Given the description of an element on the screen output the (x, y) to click on. 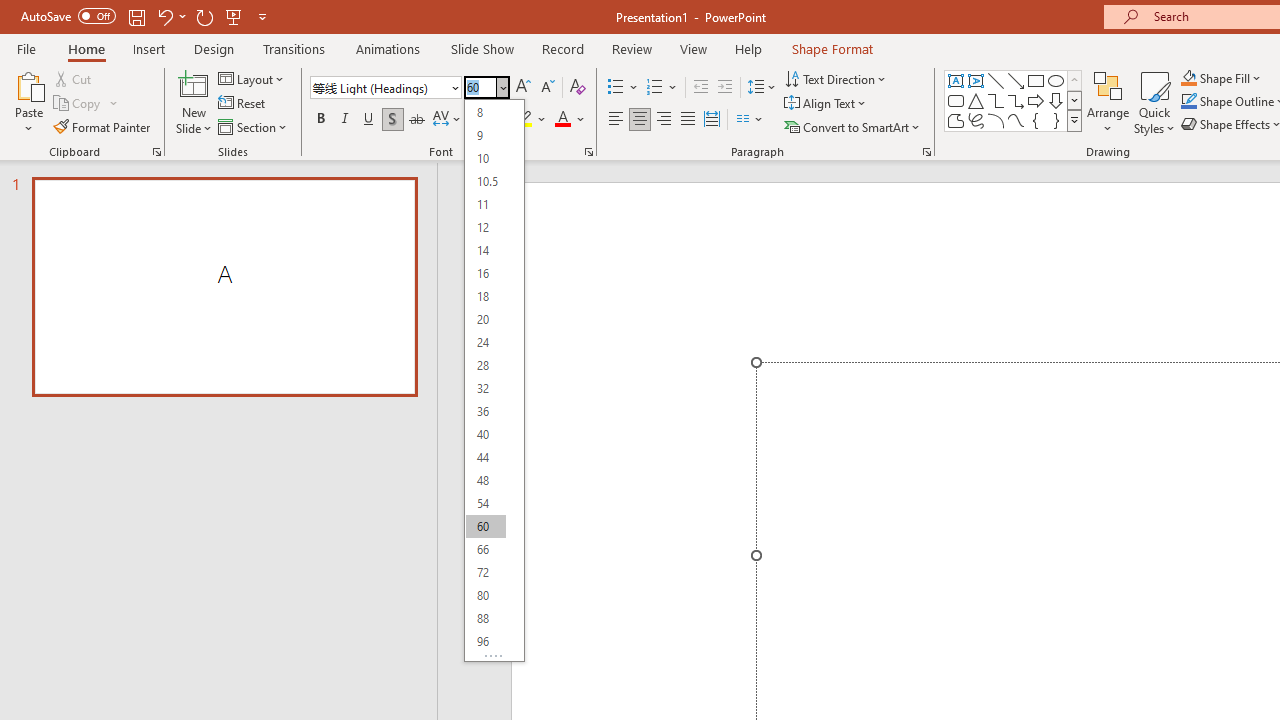
44 (485, 456)
Shape Outline Blue, Accent 1 (1188, 101)
